Given the description of an element on the screen output the (x, y) to click on. 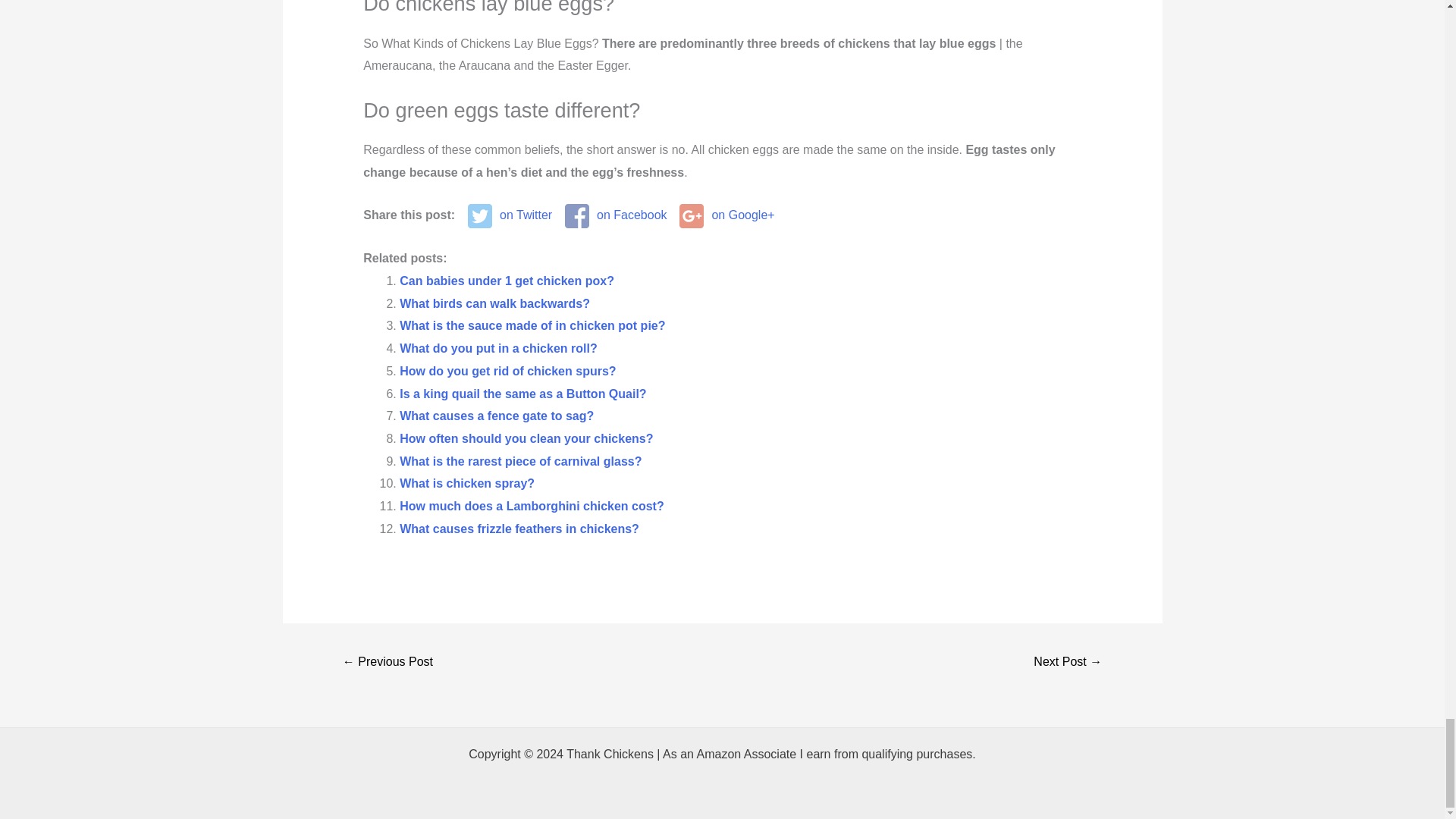
What birds can walk backwards? (493, 303)
How often should you clean your chickens? (525, 438)
on Twitter (510, 215)
What breeds of chickens are white? (387, 663)
What do you put in a chicken roll? (497, 348)
How much does a Lamborghini chicken cost? (530, 505)
What do you put in a chicken roll? (497, 348)
What is the rarest piece of carnival glass? (520, 461)
What birds can walk backwards? (493, 303)
How do you get rid of chicken spurs? (506, 370)
